Given the description of an element on the screen output the (x, y) to click on. 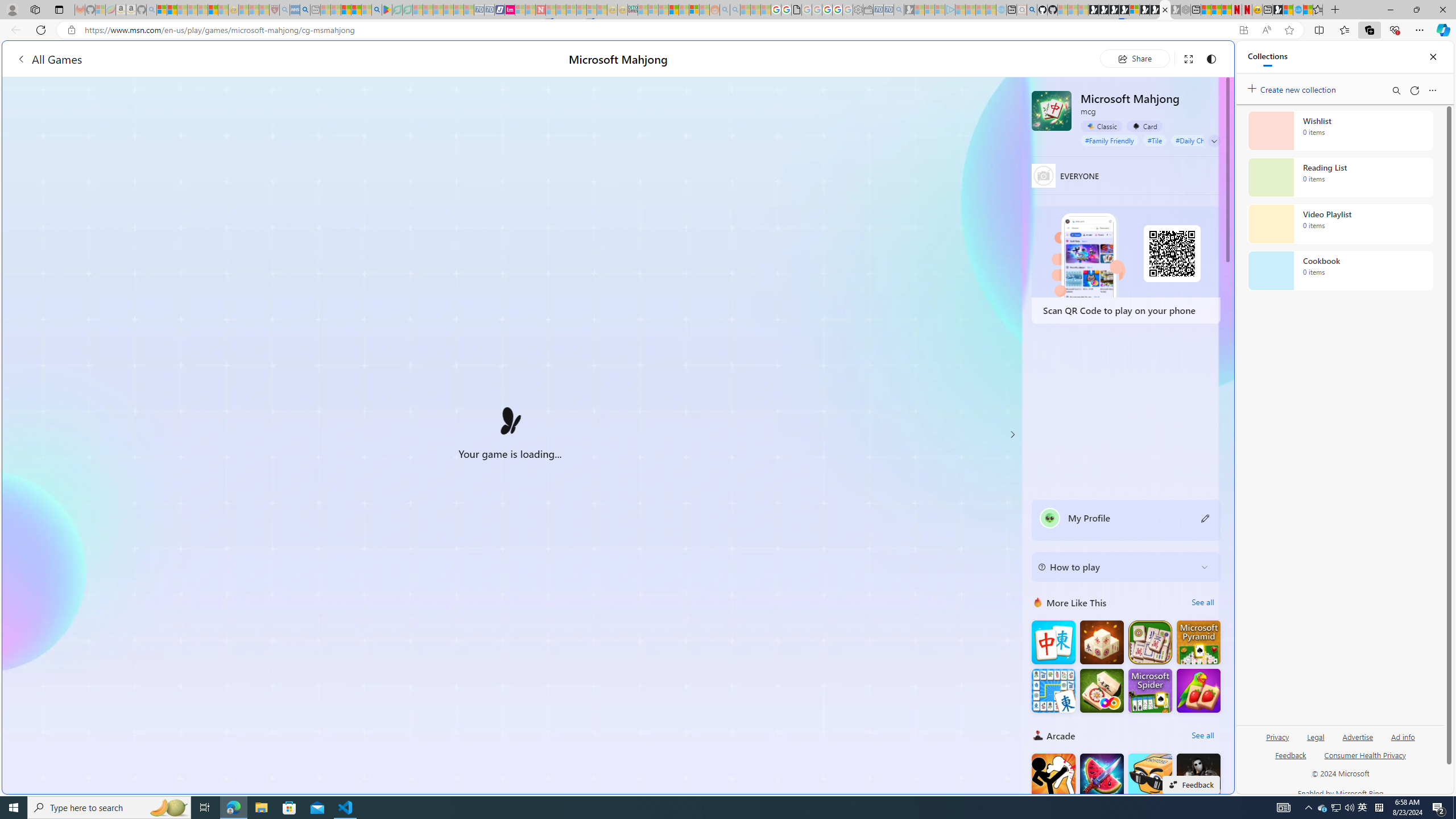
Create new collection (1293, 87)
Mahjong FRVR (1101, 690)
Mahjong Big (1053, 642)
All Games (49, 58)
More Like This (1037, 602)
